Given the description of an element on the screen output the (x, y) to click on. 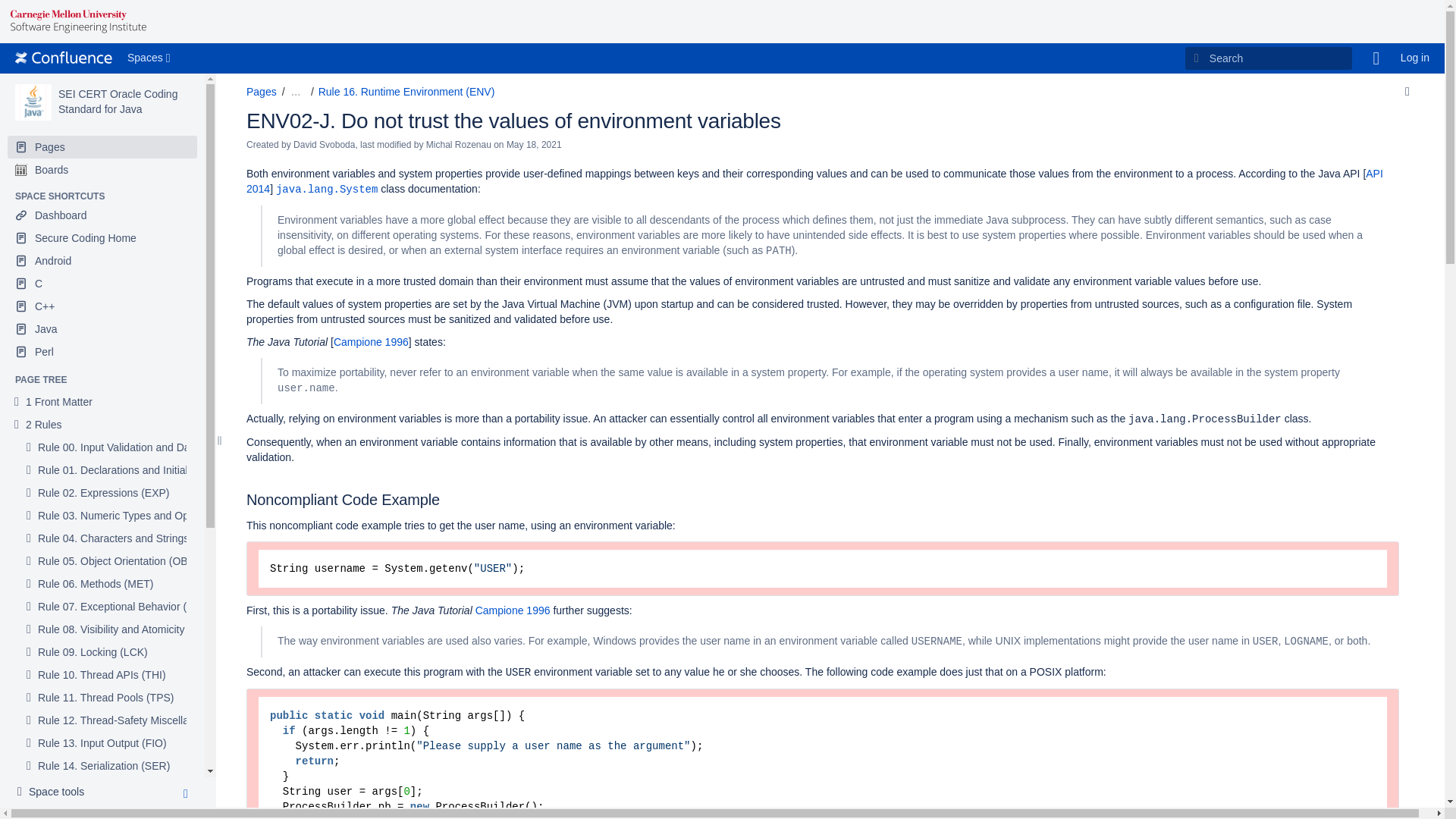
Boards (101, 169)
Dashboard (101, 214)
Secure Coding Home (101, 237)
Confluence (63, 58)
Java (101, 328)
Perl (101, 351)
2 Rules (43, 425)
SEI CERT Oracle Coding Standard for Java (32, 102)
Pages (101, 146)
Help (1376, 58)
Android (101, 260)
SEI CERT Oracle Coding Standard for Java (117, 101)
Spaces (149, 58)
1 Front Matter (59, 402)
Log in (1415, 58)
